Given the description of an element on the screen output the (x, y) to click on. 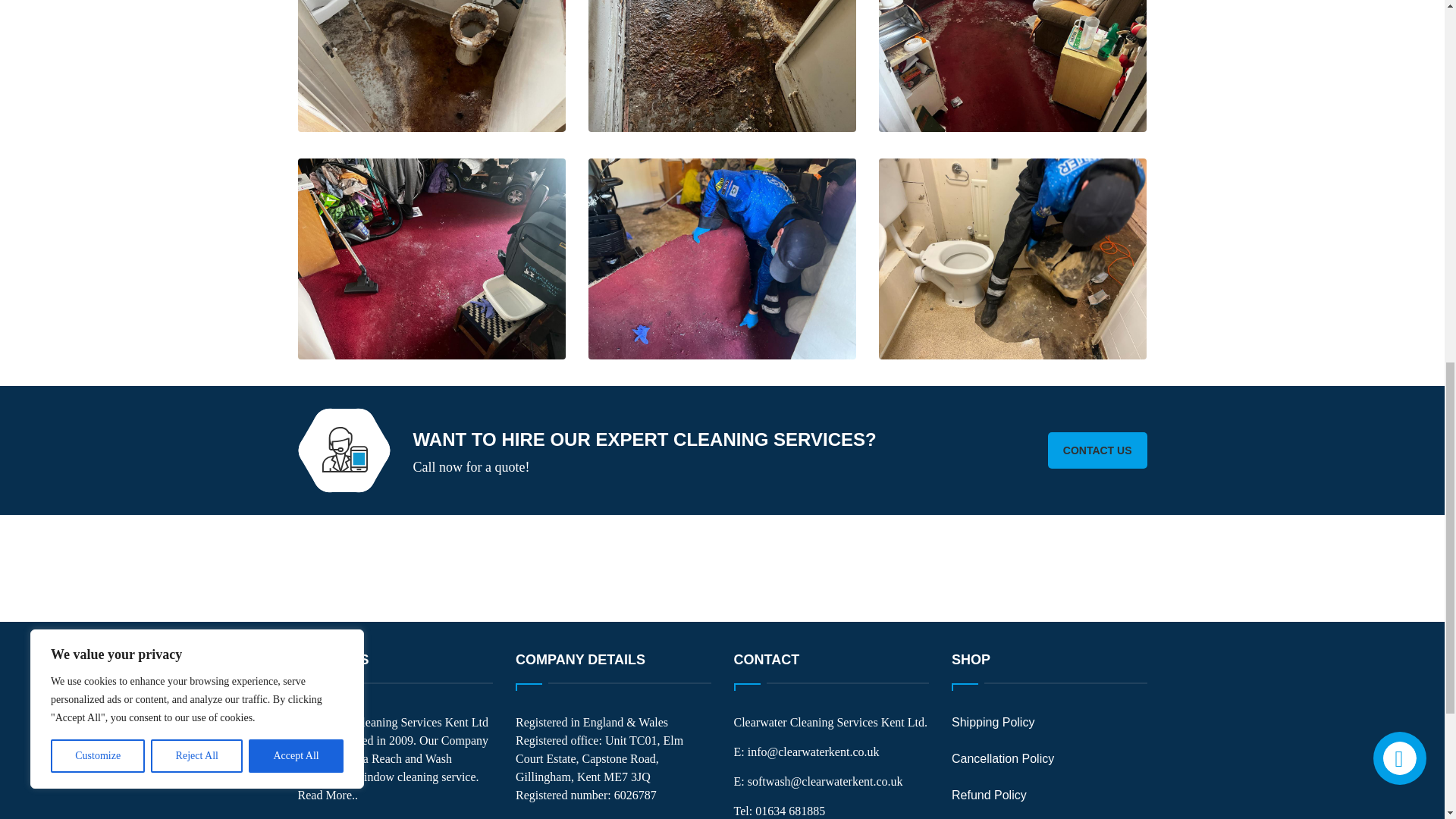
Cancellation Policy (1003, 758)
Refund Policy (989, 794)
CONTACT US (1097, 450)
Shipping Policy (992, 721)
